Given the description of an element on the screen output the (x, y) to click on. 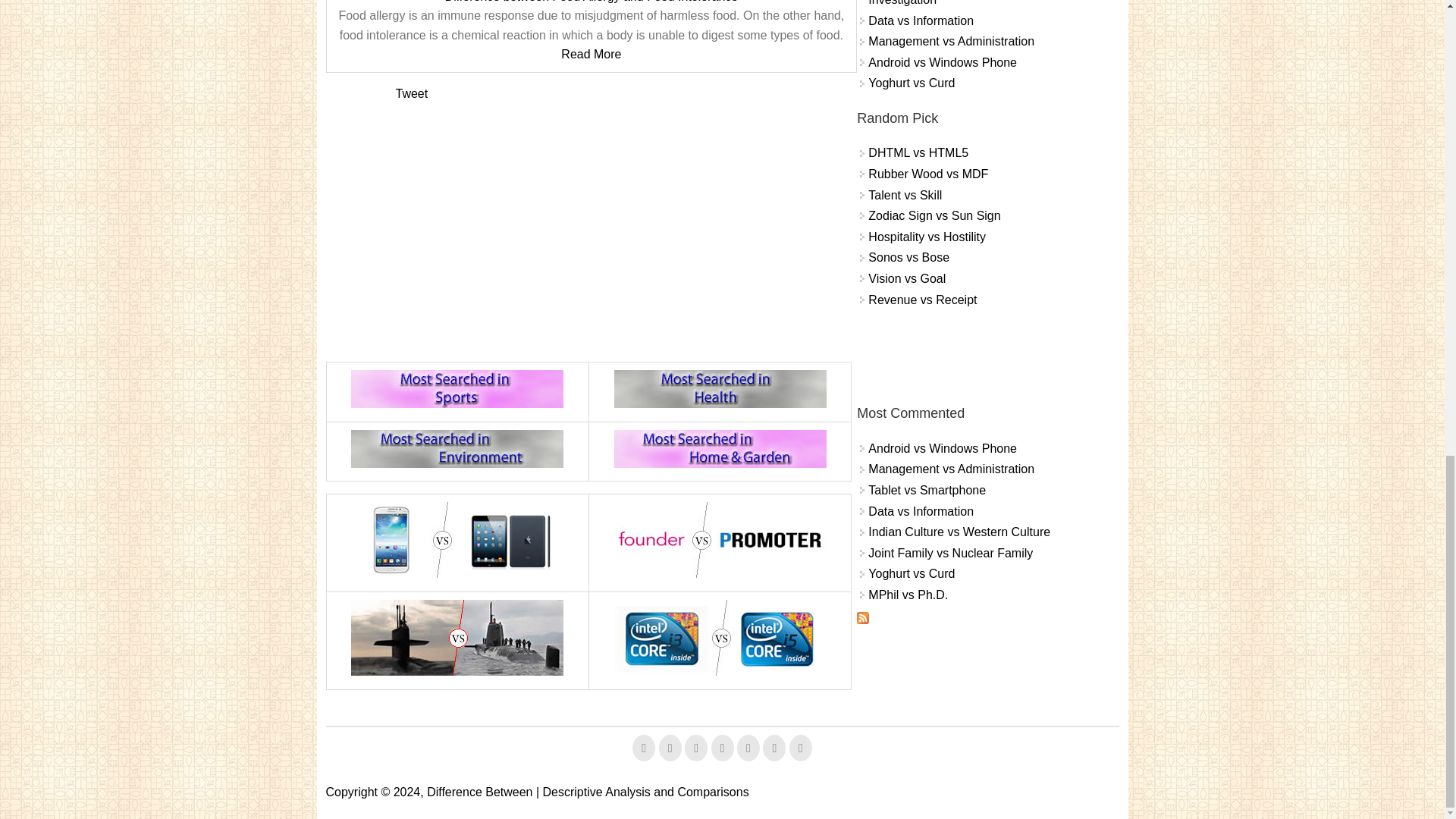
Read More (590, 53)
Samsung Galaxy Mega 5.8 vs iPad Mini (456, 540)
Most Searched in Home and Garden (720, 448)
Tweet (412, 92)
SSN vs SSBN (456, 637)
Most Searched in Health (720, 388)
Intel i3 vs i5 (720, 637)
Most Searched in Sports (456, 388)
Most Searched in Environment (456, 448)
Founder vs Promoter (720, 540)
